Given the description of an element on the screen output the (x, y) to click on. 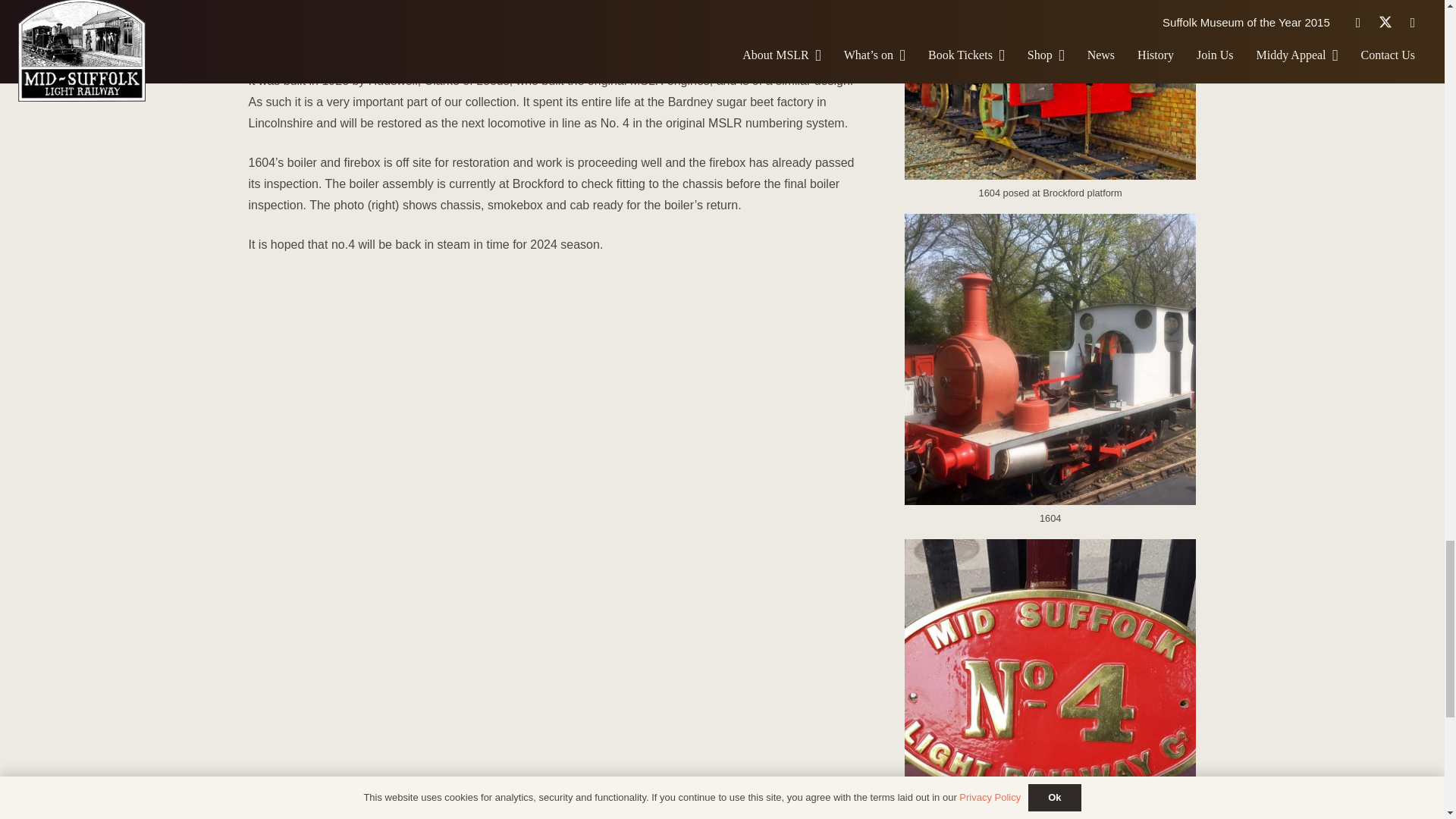
1604 posed at Brockford platform (1050, 106)
1604 (1050, 375)
